Given the description of an element on the screen output the (x, y) to click on. 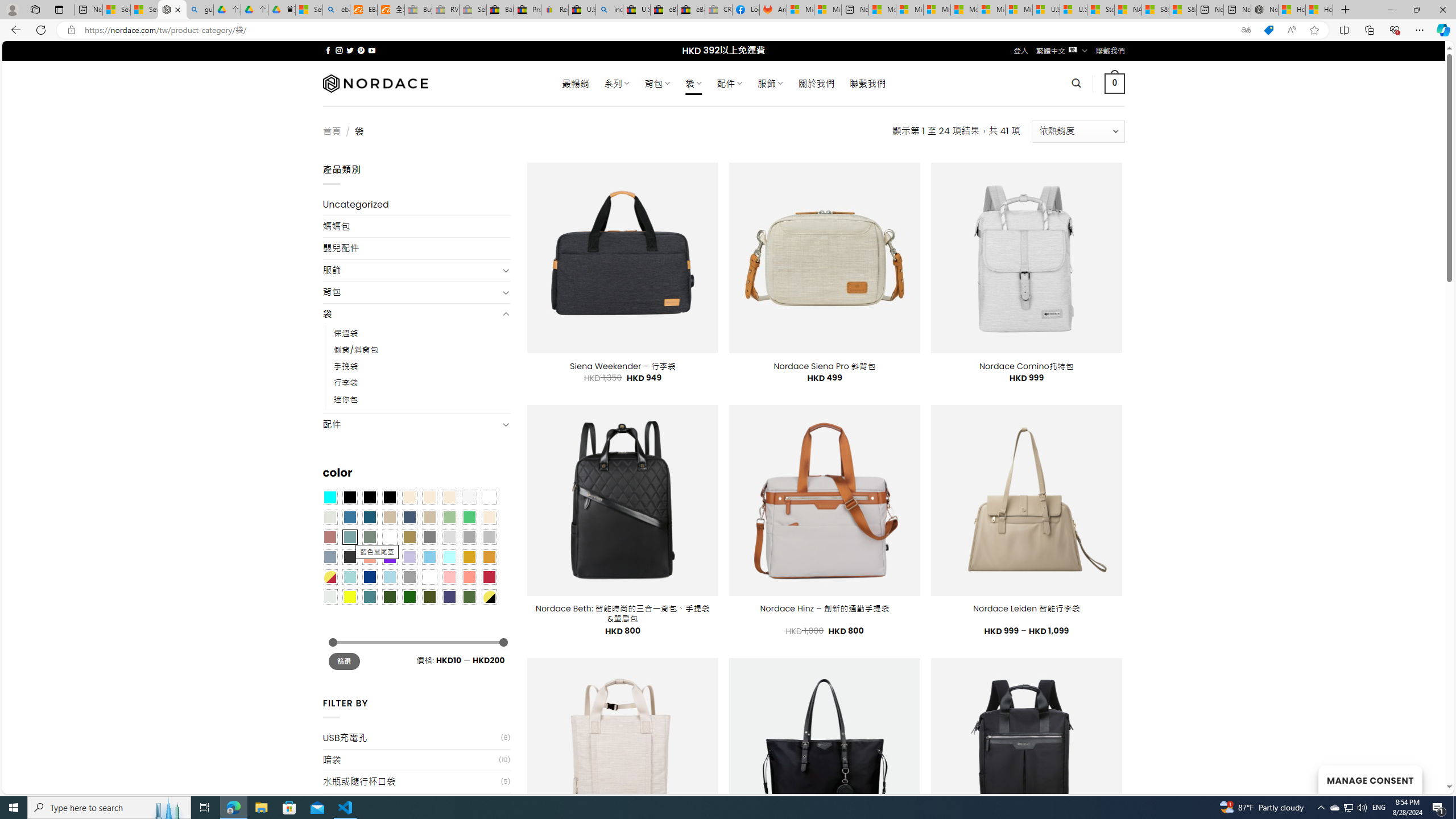
Log into Facebook (746, 9)
  0   (1115, 83)
Close tab (177, 9)
Microsoft account | Home (936, 9)
